Given the description of an element on the screen output the (x, y) to click on. 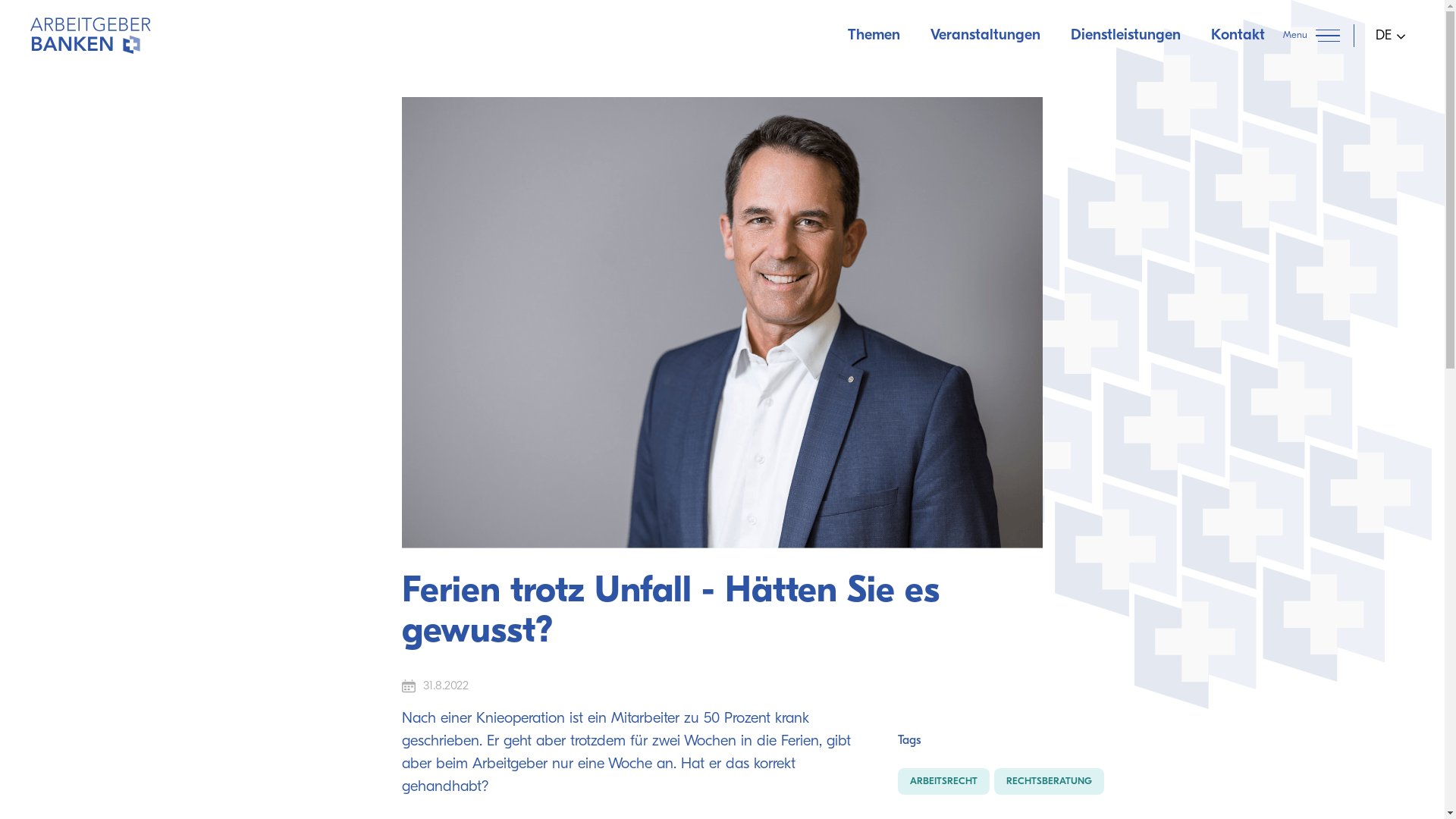
+41 58 330 62 95 | Element type: text (294, 606)
RECHTSBERATUNG Element type: text (1049, 781)
Mitglieder Element type: text (934, 617)
Datenschutz Element type: text (991, 743)
Dienstleistungen Element type: text (1125, 35)
Mitglied werden Element type: text (948, 645)
Kontakt Element type: text (1090, 617)
DE Element type: text (1391, 35)
Veranstaltungen Element type: text (985, 35)
Unsere Themen Element type: text (787, 561)
Themen Element type: text (873, 35)
info@arbeitgeber-banken.ch Element type: text (395, 606)
ARBEITSRECHT Element type: text (943, 781)
Kontakt Element type: text (1237, 35)
Verband Element type: text (930, 561)
Newsletter Element type: text (1096, 561)
Dienstleistungen Element type: text (789, 617)
Statuten Element type: text (931, 589)
Downloads Element type: text (777, 645)
Veranstaltungen Element type: text (789, 589)
Impressum Element type: text (1067, 743)
